Given the description of an element on the screen output the (x, y) to click on. 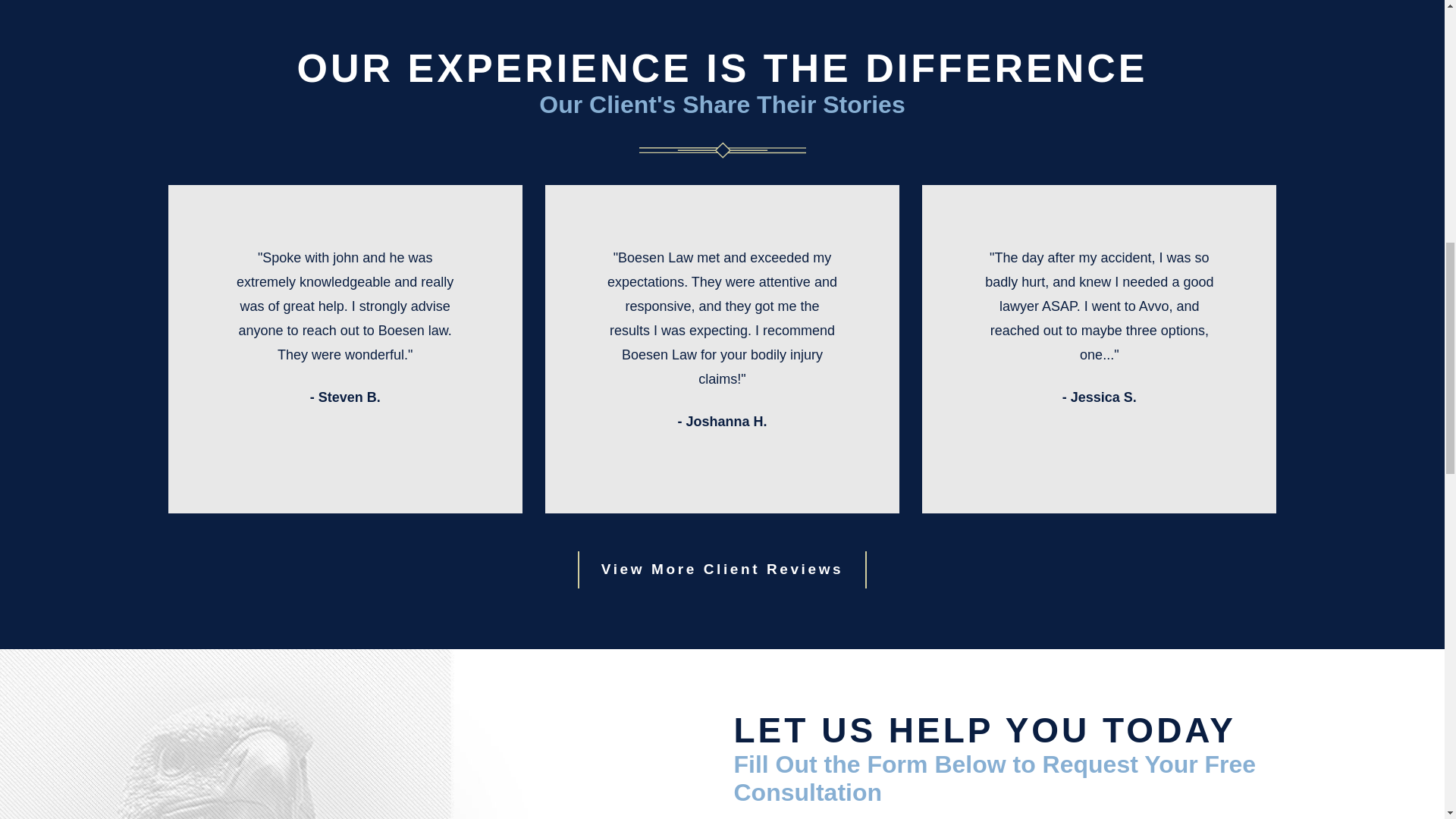
View More Client Reviews (722, 569)
